Given the description of an element on the screen output the (x, y) to click on. 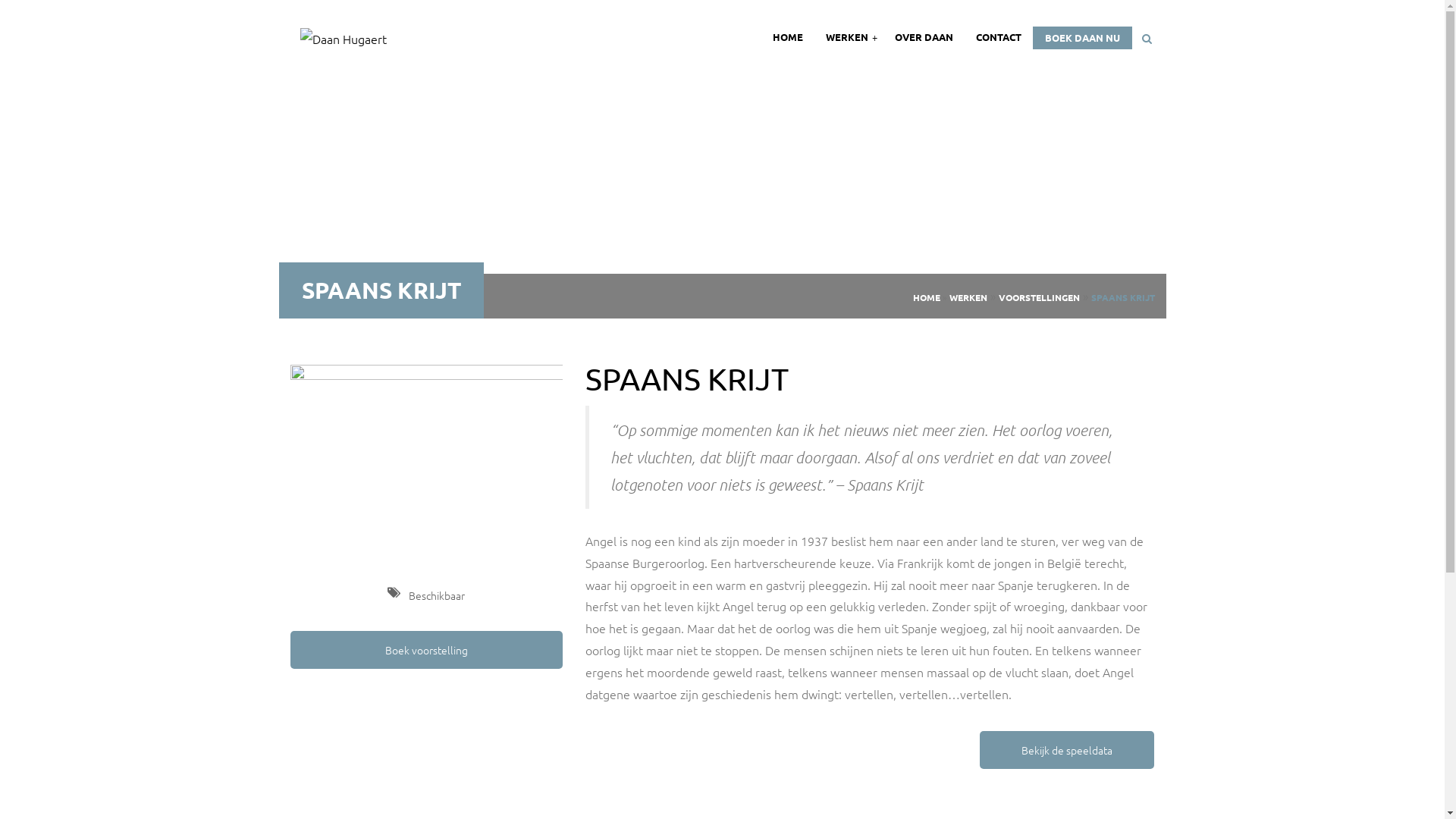
OVER DAAN Element type: text (922, 36)
BOEK DAAN NU Element type: text (1082, 37)
Bekijk de speeldata Element type: text (1066, 749)
Beschikbaar Element type: text (425, 595)
HOME Element type: text (926, 297)
CONTACT Element type: text (998, 36)
WERKEN Element type: text (848, 36)
VOORSTELLINGEN Element type: text (1038, 297)
WERKEN Element type: text (968, 297)
Boek voorstelling Element type: text (425, 649)
HOME Element type: text (787, 36)
